Given the description of an element on the screen output the (x, y) to click on. 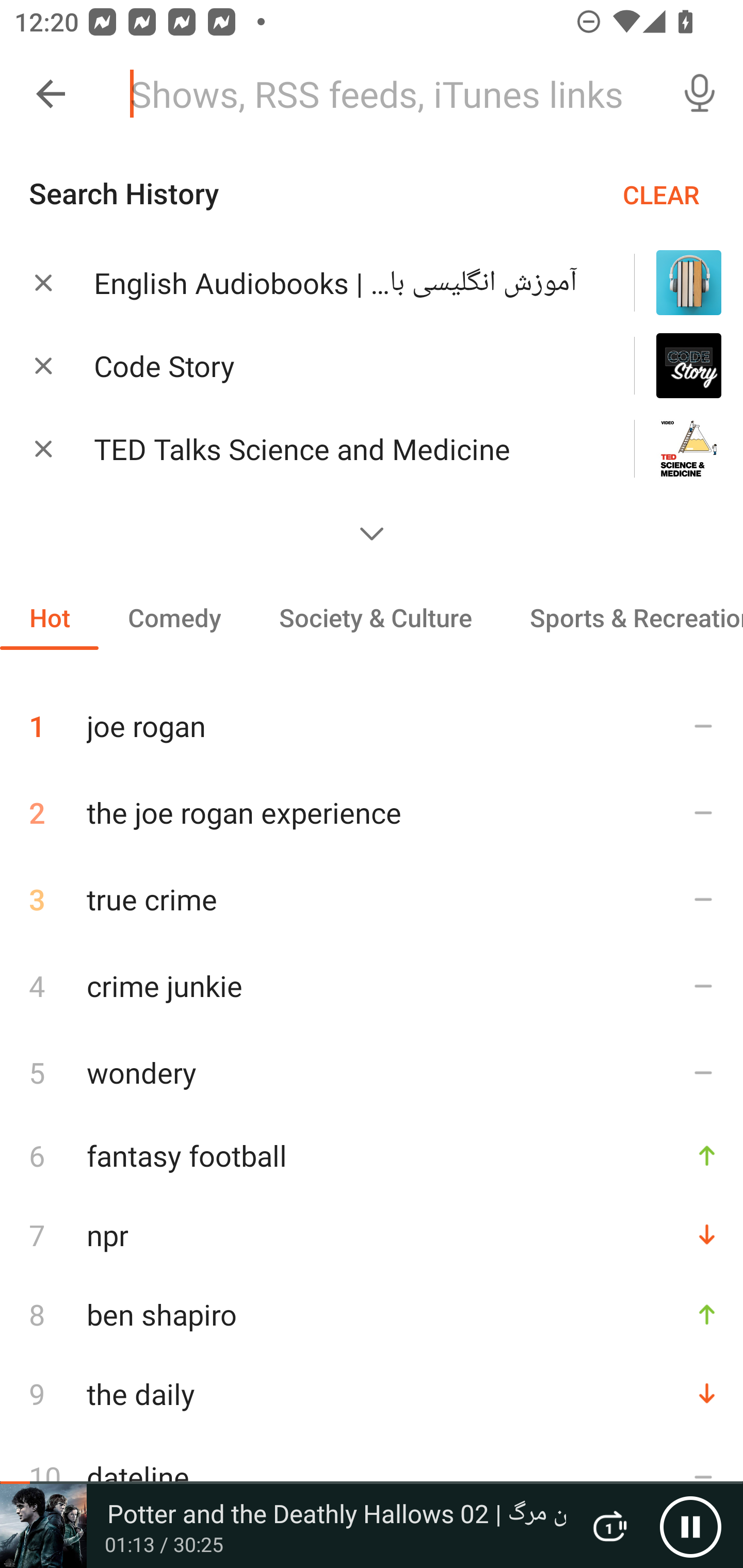
Collapse (50, 93)
Voice Search (699, 93)
Shows, RSS feeds, iTunes links (385, 94)
CLEAR (660, 194)
 Clear (43, 282)
Code Story (338, 365)
 Clear (43, 365)
TED Talks Science and Medicine (338, 448)
 Clear (43, 448)
 (371, 533)
Hot (49, 616)
Comedy (173, 616)
Society & Culture (374, 616)
Sports & Recreation (621, 616)
1 joe rogan (371, 717)
2 the joe rogan experience (371, 812)
3 true crime (371, 899)
4 crime junkie (371, 985)
5 wondery (371, 1072)
6 fantasy football (371, 1155)
7 npr (371, 1234)
8 ben shapiro (371, 1313)
9 the daily (371, 1393)
Pause (690, 1526)
